Given the description of an element on the screen output the (x, y) to click on. 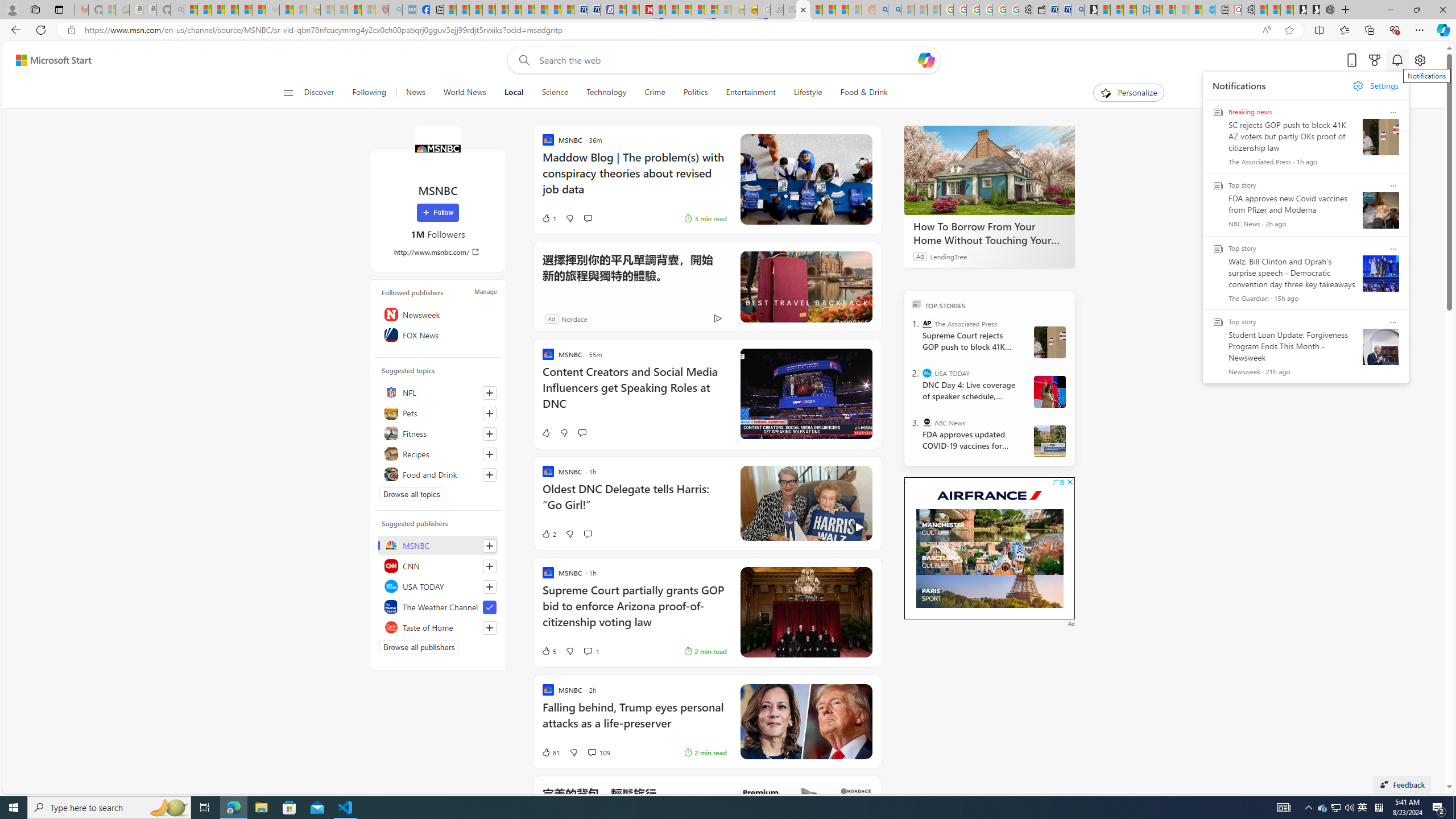
5 Like (547, 650)
Pets (437, 412)
Climate Damage Becomes Too Severe To Reverse (488, 9)
View comments 1 Comment (591, 650)
Browse all publishers (419, 647)
Combat Siege - Sleeping (271, 9)
Fitness (437, 433)
Class: button-glyph (287, 92)
